Given the description of an element on the screen output the (x, y) to click on. 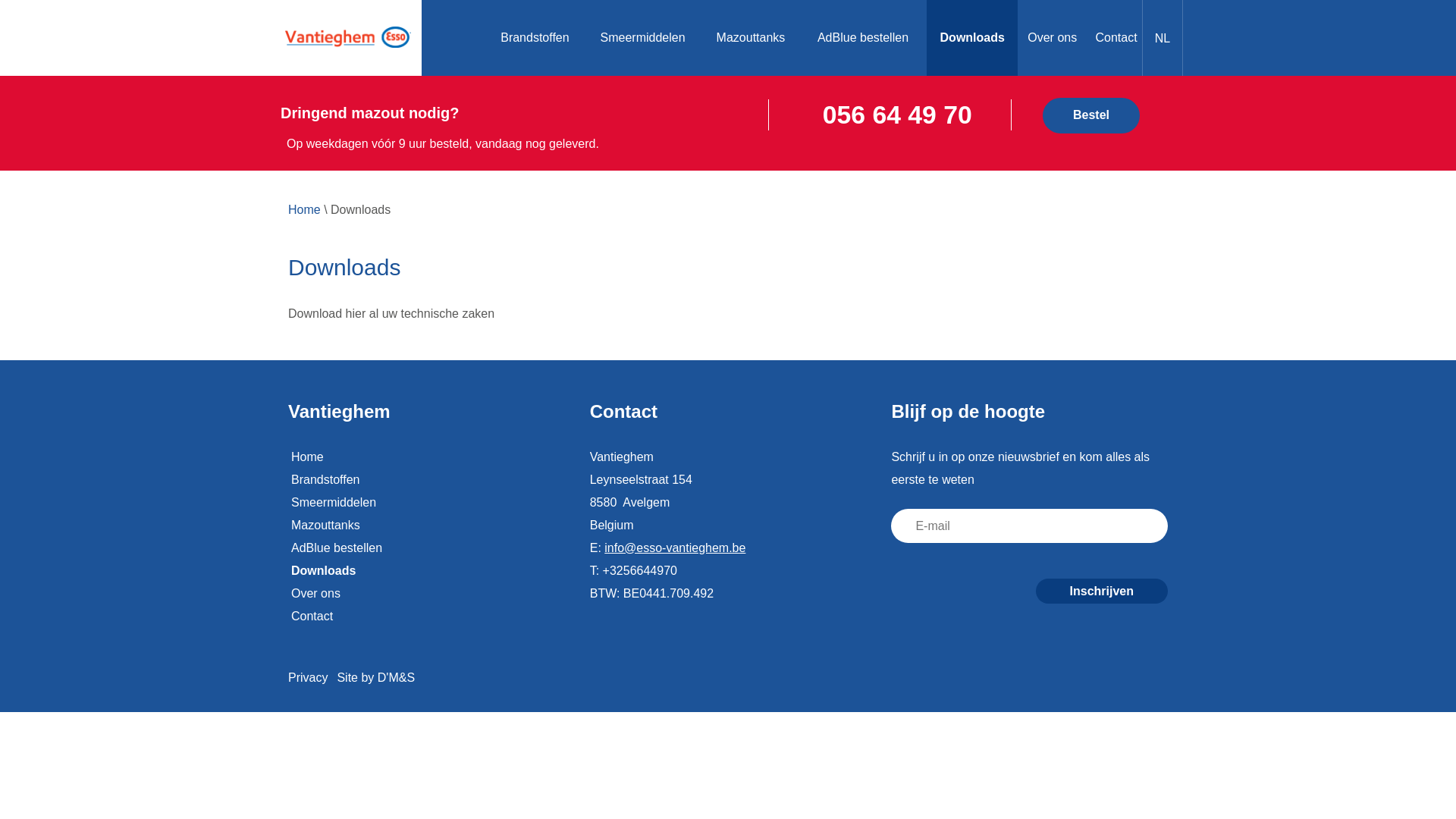
Over ons Element type: text (1051, 37)
Downloads Element type: text (426, 570)
Downloads Element type: text (971, 37)
Privacy Element type: text (307, 677)
Contact Element type: text (1115, 37)
Home Element type: text (453, 37)
info@esso-vantieghem.be Element type: text (674, 547)
AdBlue bestellen Element type: text (426, 547)
Brandstoffen Element type: text (426, 479)
Inschrijven Element type: text (1101, 590)
Site by D'M&S Element type: text (375, 677)
Home Element type: hover (347, 37)
Mazouttanks Element type: text (750, 37)
Bestel Element type: text (1090, 115)
056 64 49 70 Element type: text (897, 114)
Mazouttanks Element type: text (426, 525)
Smeermiddelen Element type: text (426, 502)
Home Element type: text (426, 456)
Over ons Element type: text (426, 593)
Smeermiddelen Element type: text (642, 37)
Brandstoffen Element type: text (534, 37)
Contact Element type: text (426, 616)
Home Element type: text (304, 209)
AdBlue bestellen Element type: text (863, 37)
+3256644970 Element type: text (639, 570)
